Given the description of an element on the screen output the (x, y) to click on. 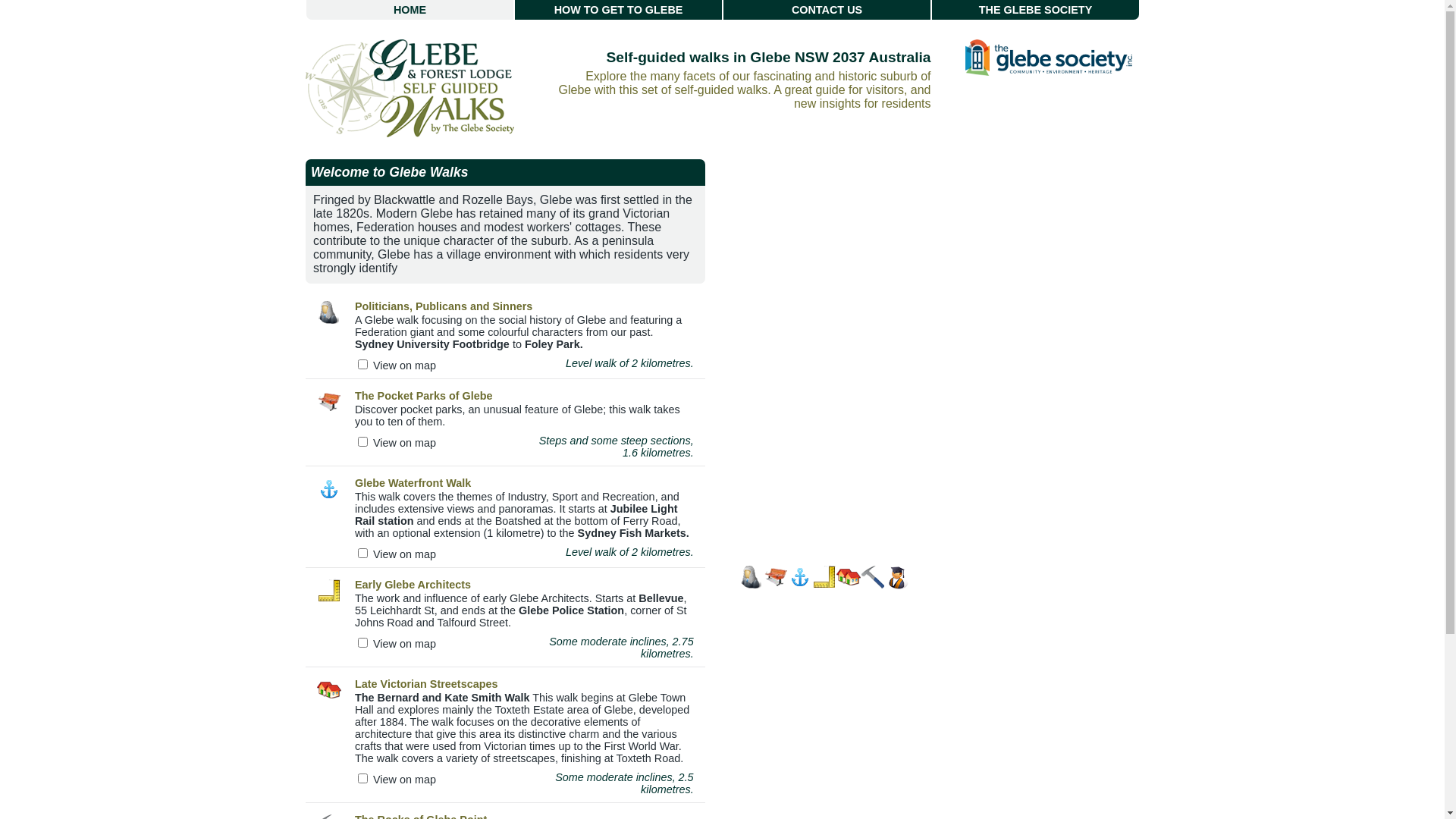
Glebe Waterfront Walk Element type: text (412, 482)
Politicians, Publicans and Sinners Element type: text (443, 306)
The Pocket Parks of Glebe Element type: text (423, 395)
Early Glebe Architects Element type: text (412, 584)
THE GLEBE SOCIETY Element type: text (1035, 9)
Late Victorian Streetscapes Element type: text (426, 683)
CONTACT US Element type: text (827, 9)
HOME Element type: text (410, 9)
HOW TO GET TO GLEBE Element type: text (618, 9)
